Given the description of an element on the screen output the (x, y) to click on. 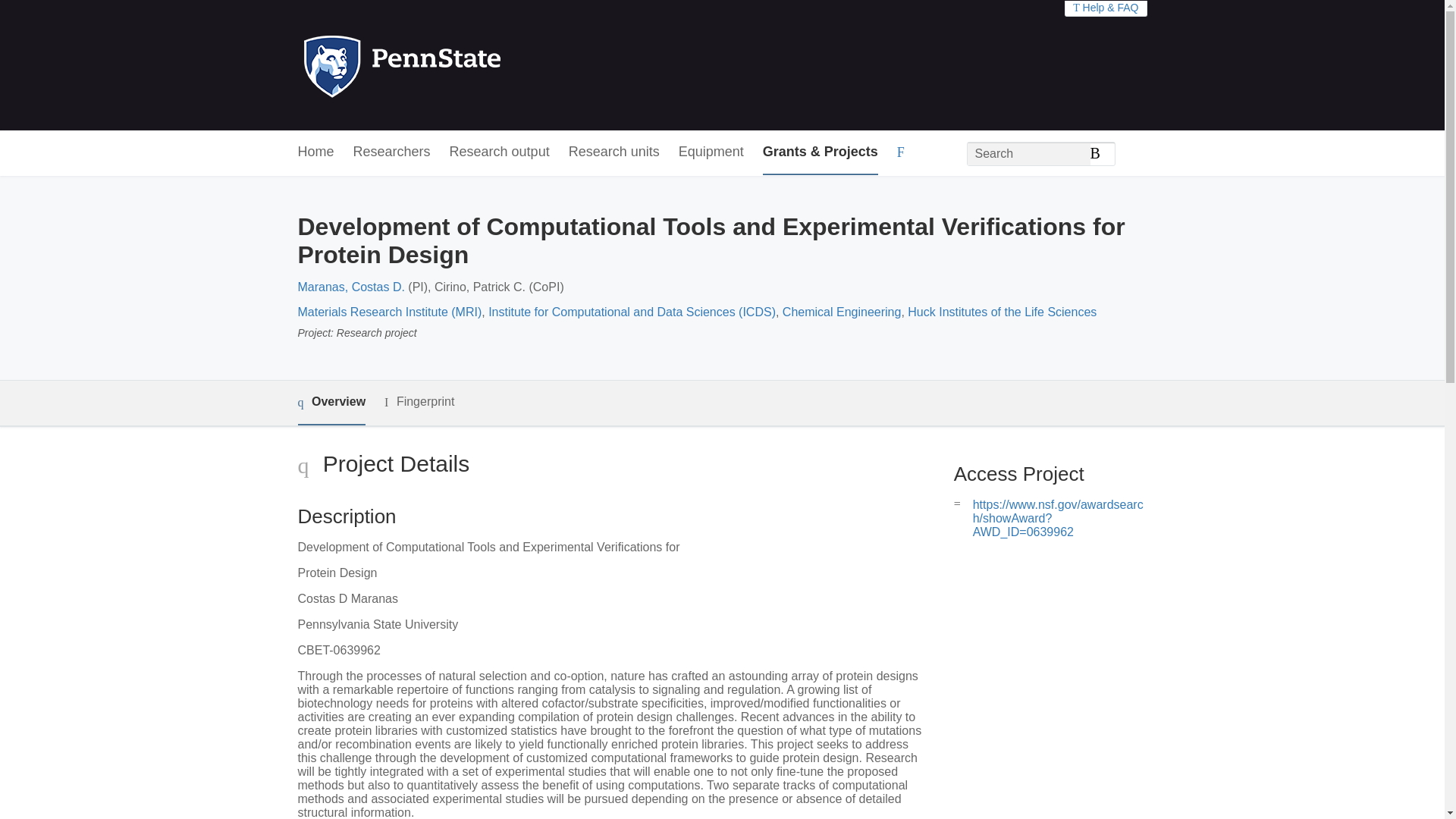
Research units (614, 152)
Fingerprint (419, 402)
Overview (331, 402)
Researchers (391, 152)
Equipment (711, 152)
Research output (499, 152)
Chemical Engineering (842, 311)
Huck Institutes of the Life Sciences (1001, 311)
Home (315, 152)
Maranas, Costas D. (350, 286)
Penn State Home (467, 65)
